Given the description of an element on the screen output the (x, y) to click on. 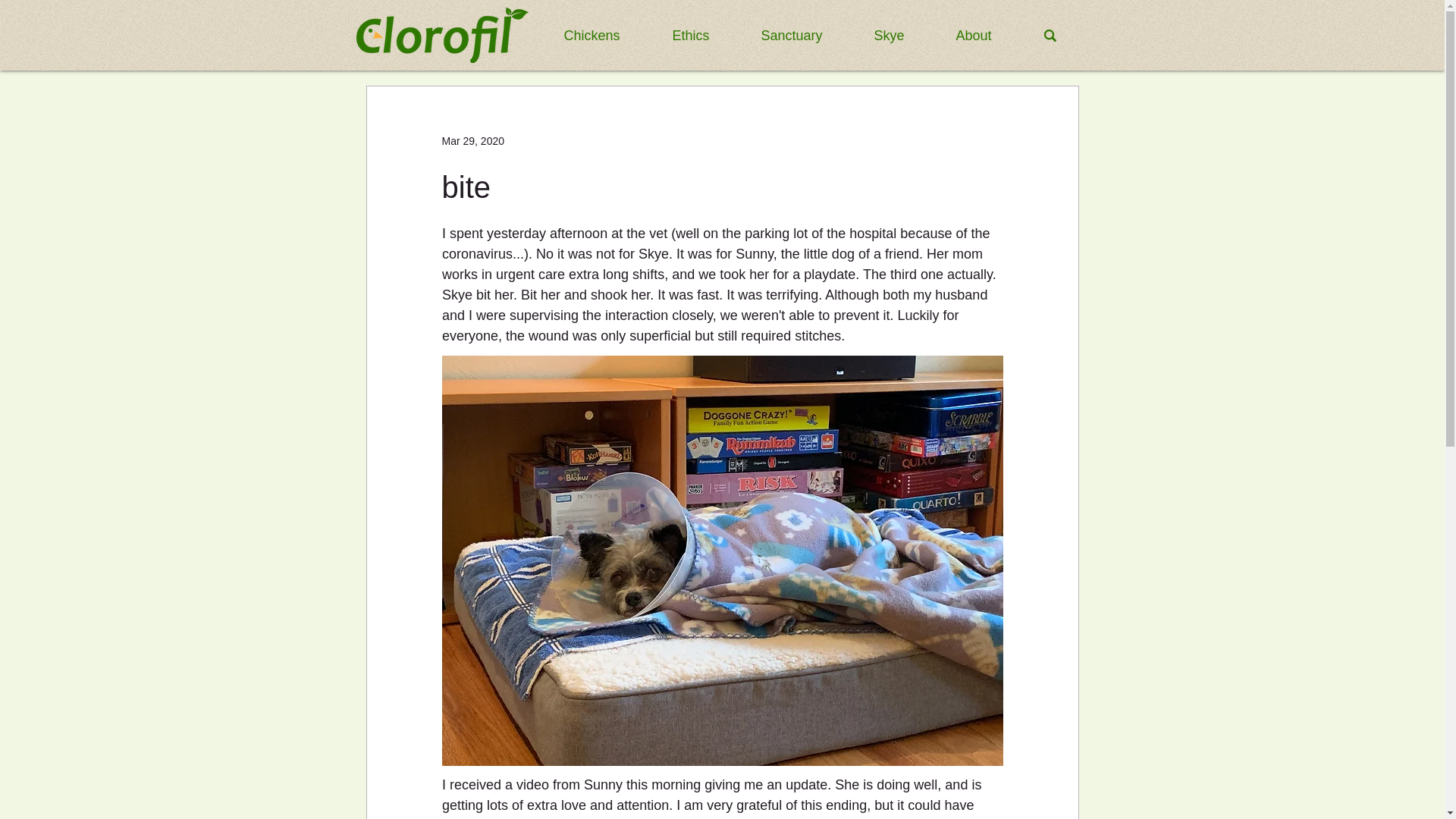
Mar 29, 2020 (472, 141)
Skye (903, 35)
Ethics (705, 35)
Sanctuary (805, 35)
Chickens (606, 35)
About (988, 35)
